Given the description of an element on the screen output the (x, y) to click on. 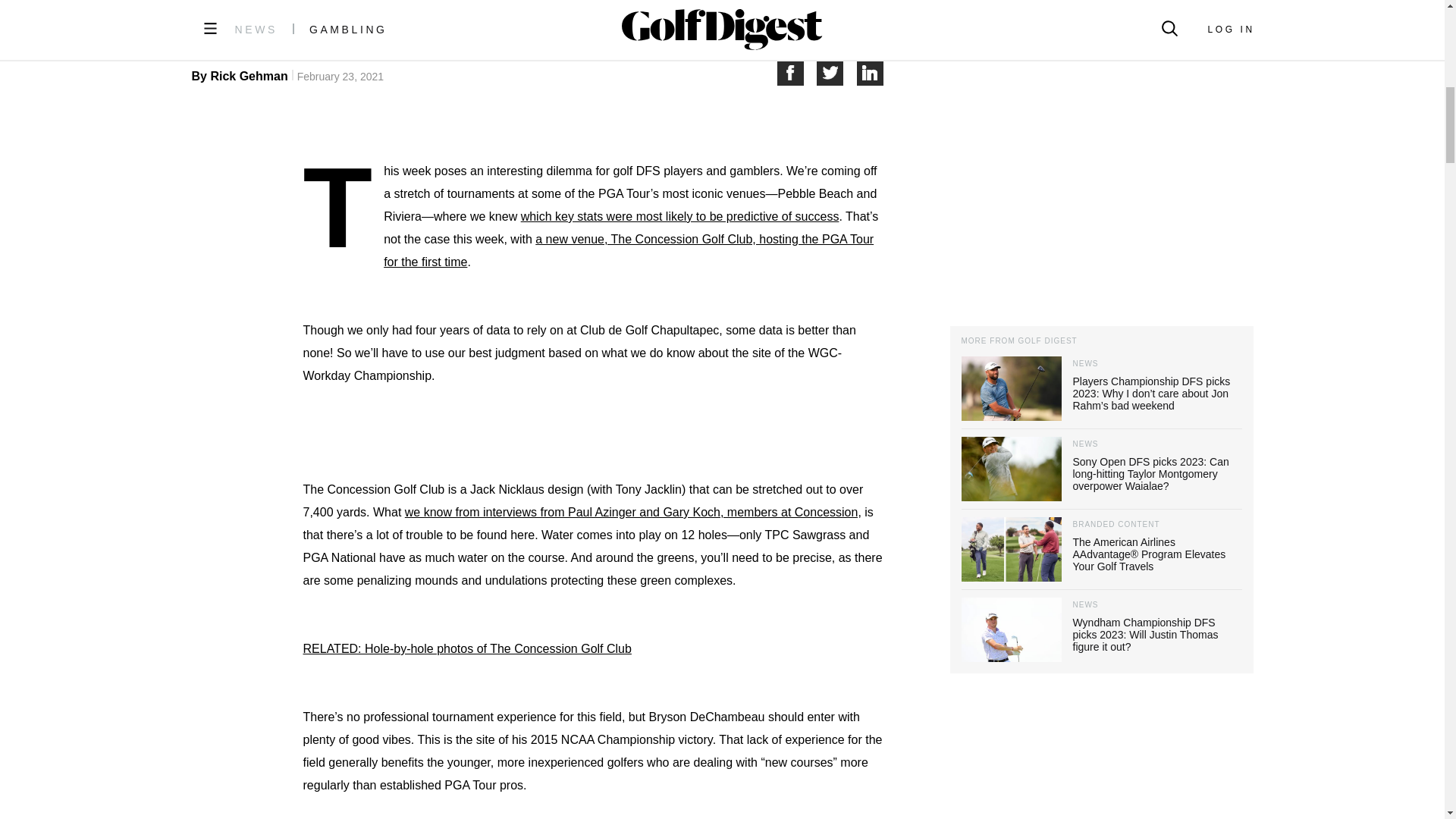
Share on Twitter (836, 71)
Share on Facebook (796, 71)
Share on LinkedIn (870, 71)
